Given the description of an element on the screen output the (x, y) to click on. 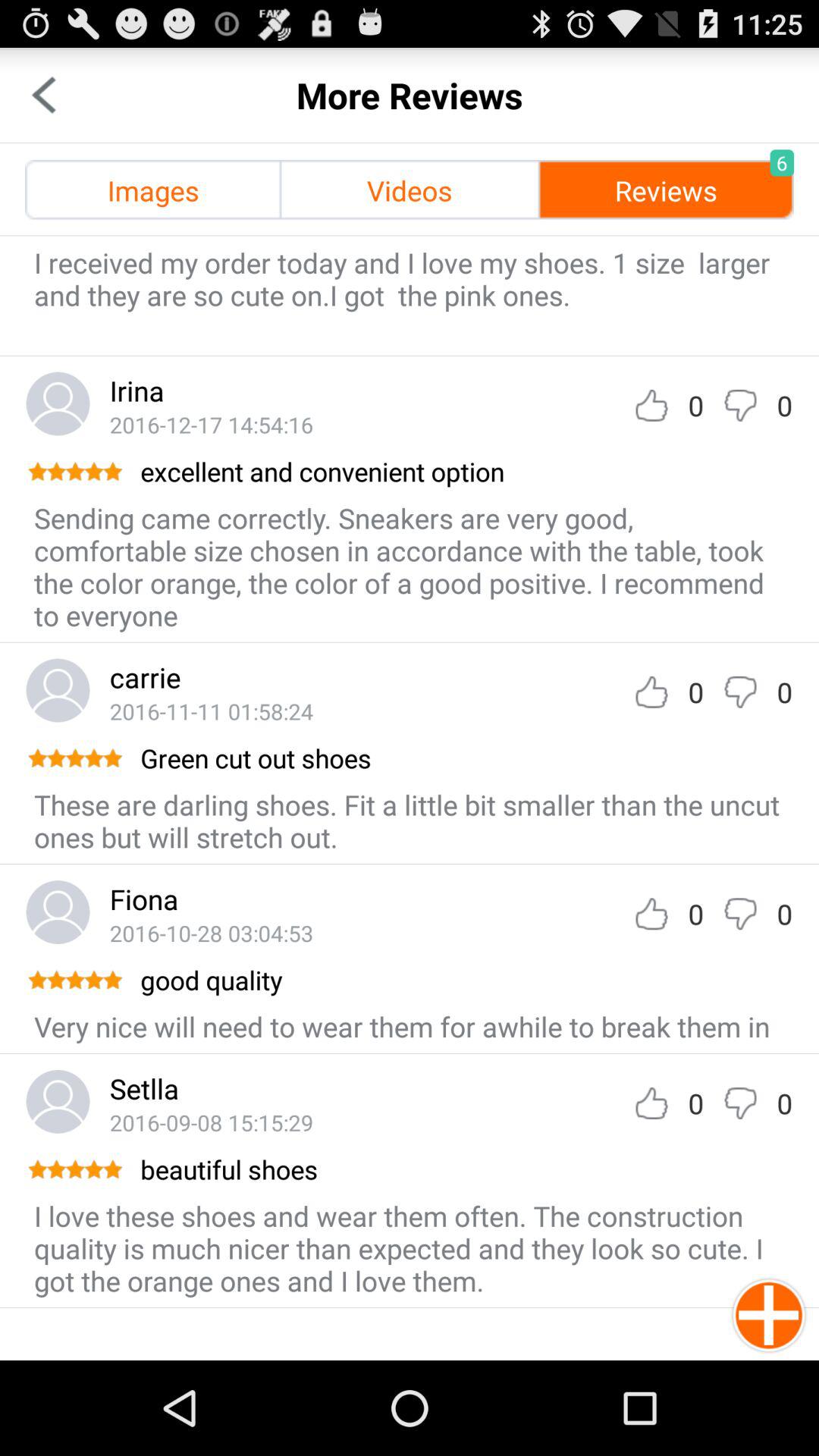
message icon option (740, 692)
